Given the description of an element on the screen output the (x, y) to click on. 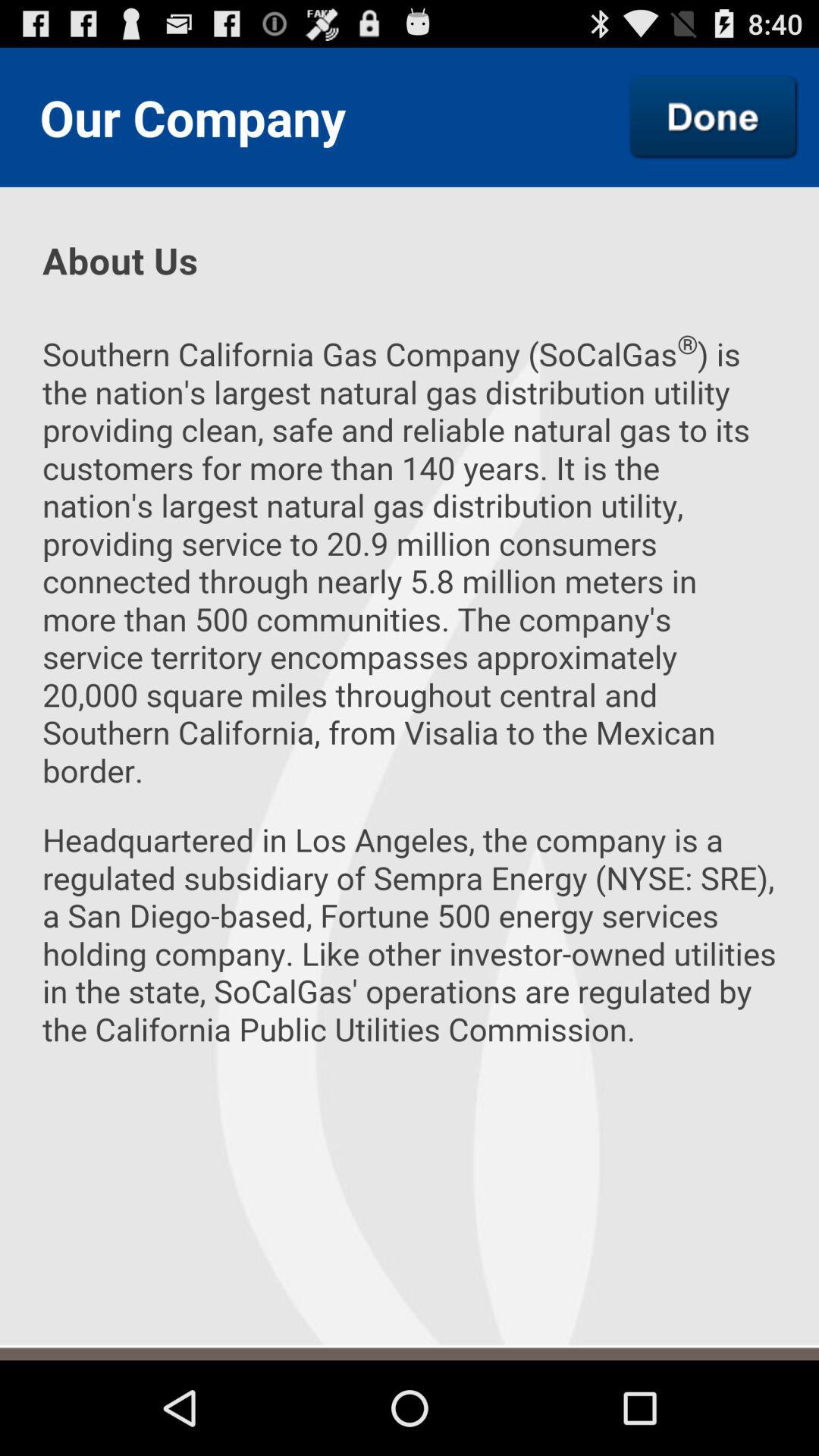
exit page (714, 117)
